Given the description of an element on the screen output the (x, y) to click on. 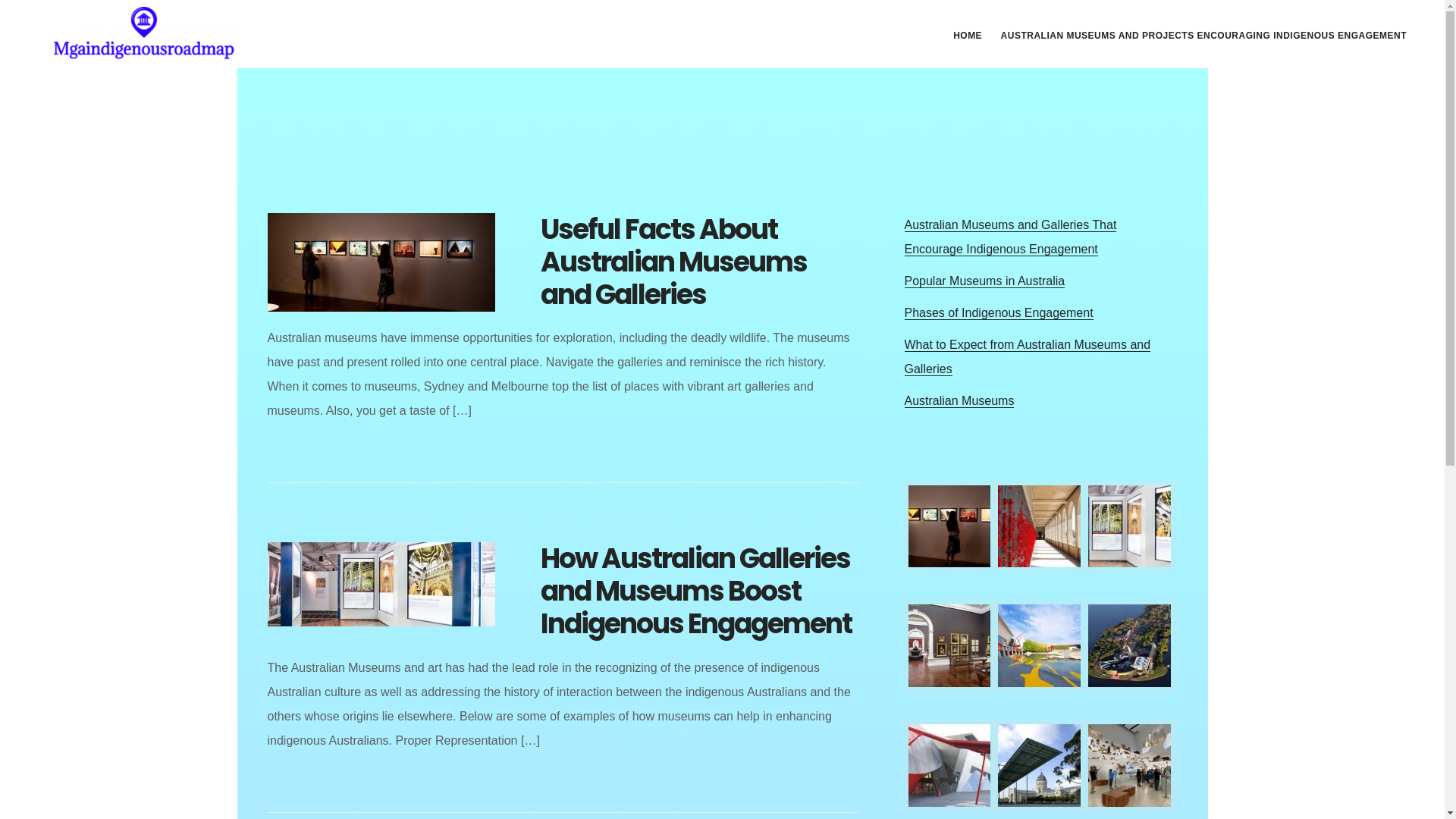
Popular Museums in Australia Element type: text (983, 281)
HOME Element type: text (967, 35)
Useful Facts About Australian Museums and Galleries Element type: text (672, 261)
Phases of Indigenous Engagement Element type: text (997, 313)
What to Expect from Australian Museums and Galleries Element type: text (1026, 357)
Skip to main content Element type: text (0, 0)
Australian Museums Element type: text (958, 400)
MGAINDIGENOUSROADMAP.COM.AU Element type: text (143, 32)
